Given the description of an element on the screen output the (x, y) to click on. 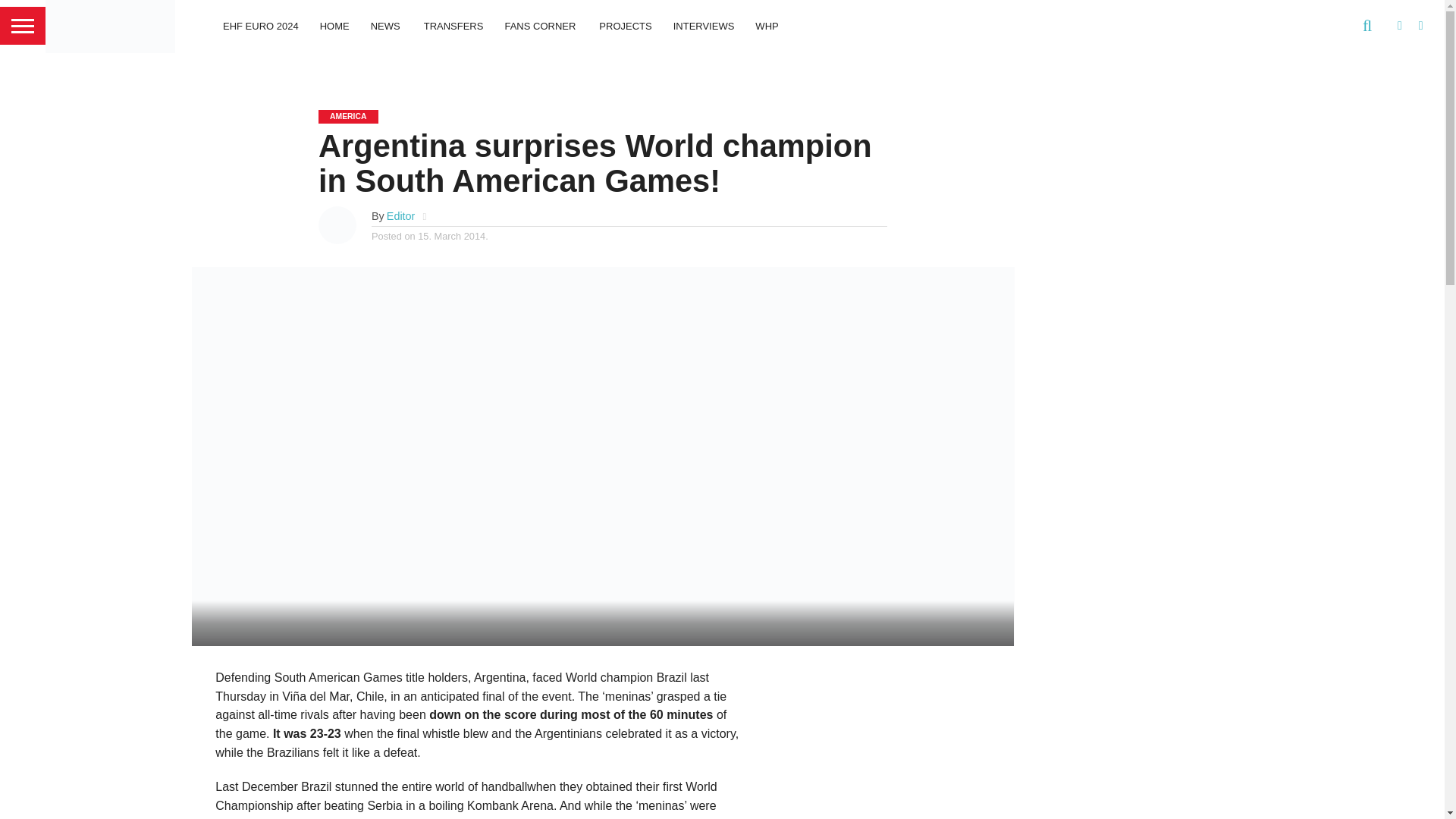
EHF EURO 2024 (260, 25)
NEWS (386, 25)
HOME (333, 25)
Posts by Editor (400, 215)
